Given the description of an element on the screen output the (x, y) to click on. 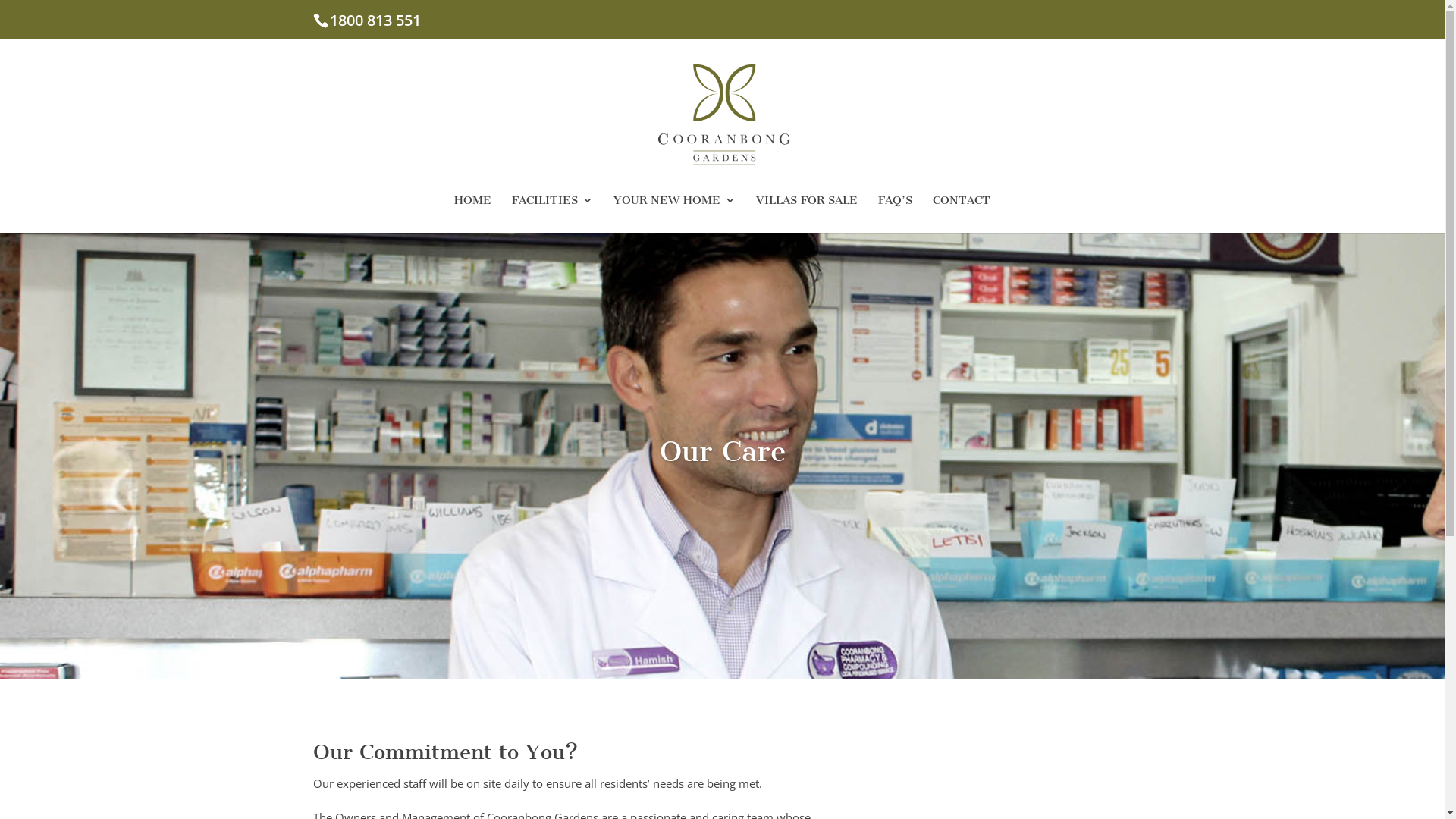
YOUR NEW HOME Element type: text (674, 213)
CONTACT Element type: text (961, 213)
FACILITIES Element type: text (552, 213)
HOME Element type: text (472, 213)
VILLAS FOR SALE Element type: text (806, 213)
